Given the description of an element on the screen output the (x, y) to click on. 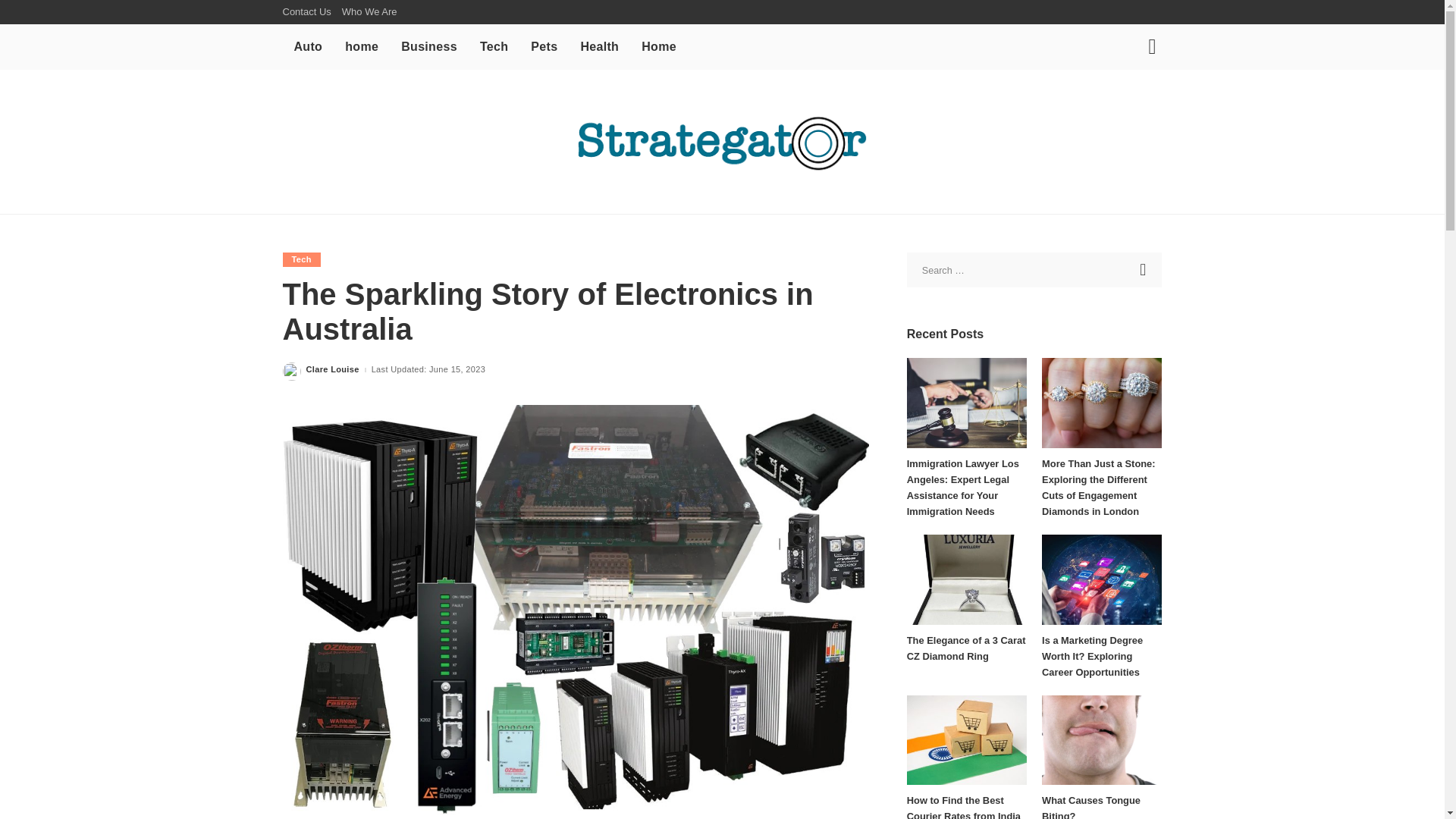
strategator (722, 141)
Business (429, 46)
Who We Are (369, 11)
Search (1140, 100)
Health (599, 46)
Auto (307, 46)
Tech (493, 46)
Search (1143, 269)
Pets (544, 46)
Home (658, 46)
Contact Us (309, 11)
Tech (301, 259)
Clare Louise (332, 369)
home (361, 46)
Search (1143, 269)
